Given the description of an element on the screen output the (x, y) to click on. 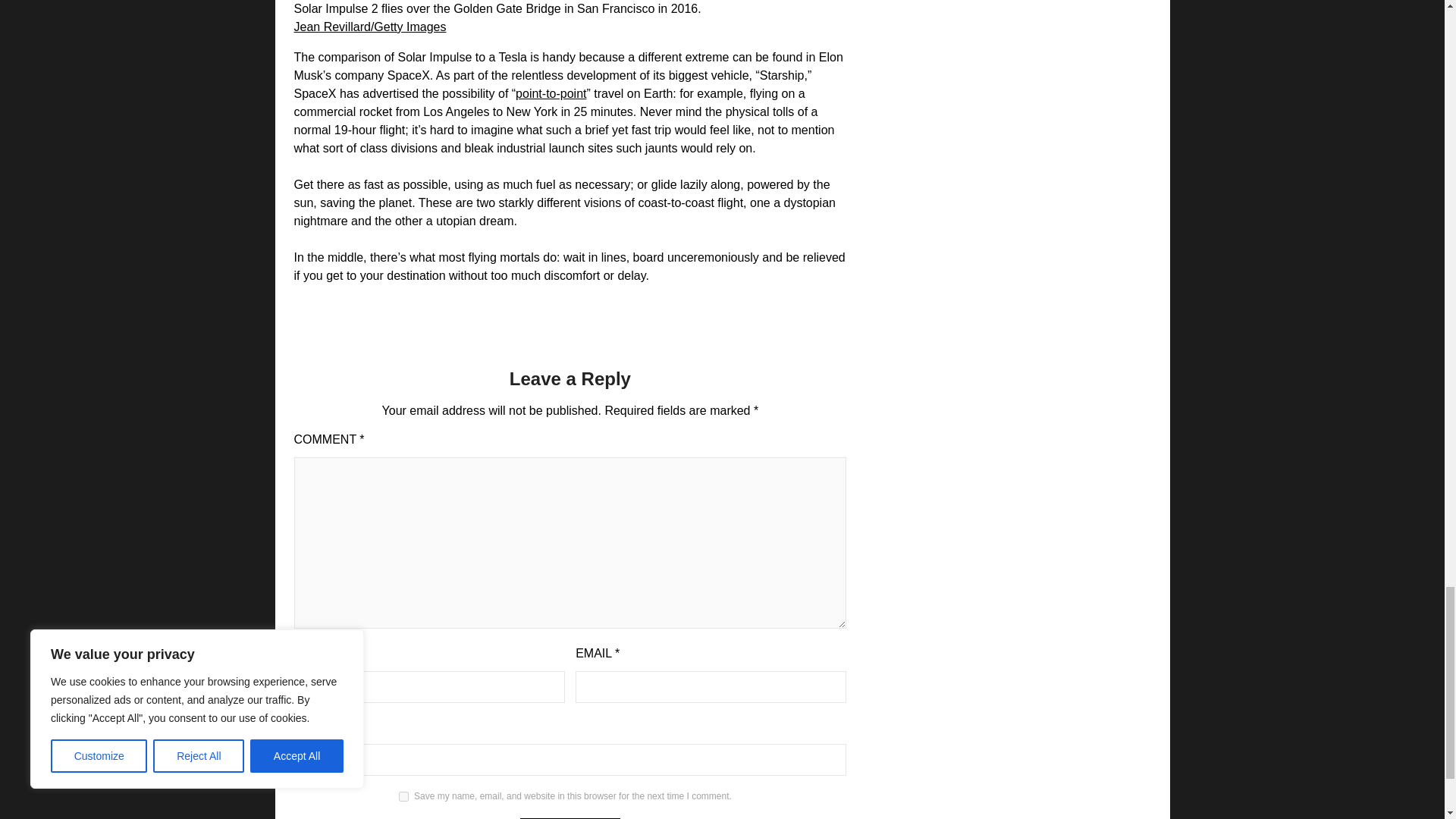
yes (403, 796)
point-to-point (550, 92)
